Given the description of an element on the screen output the (x, y) to click on. 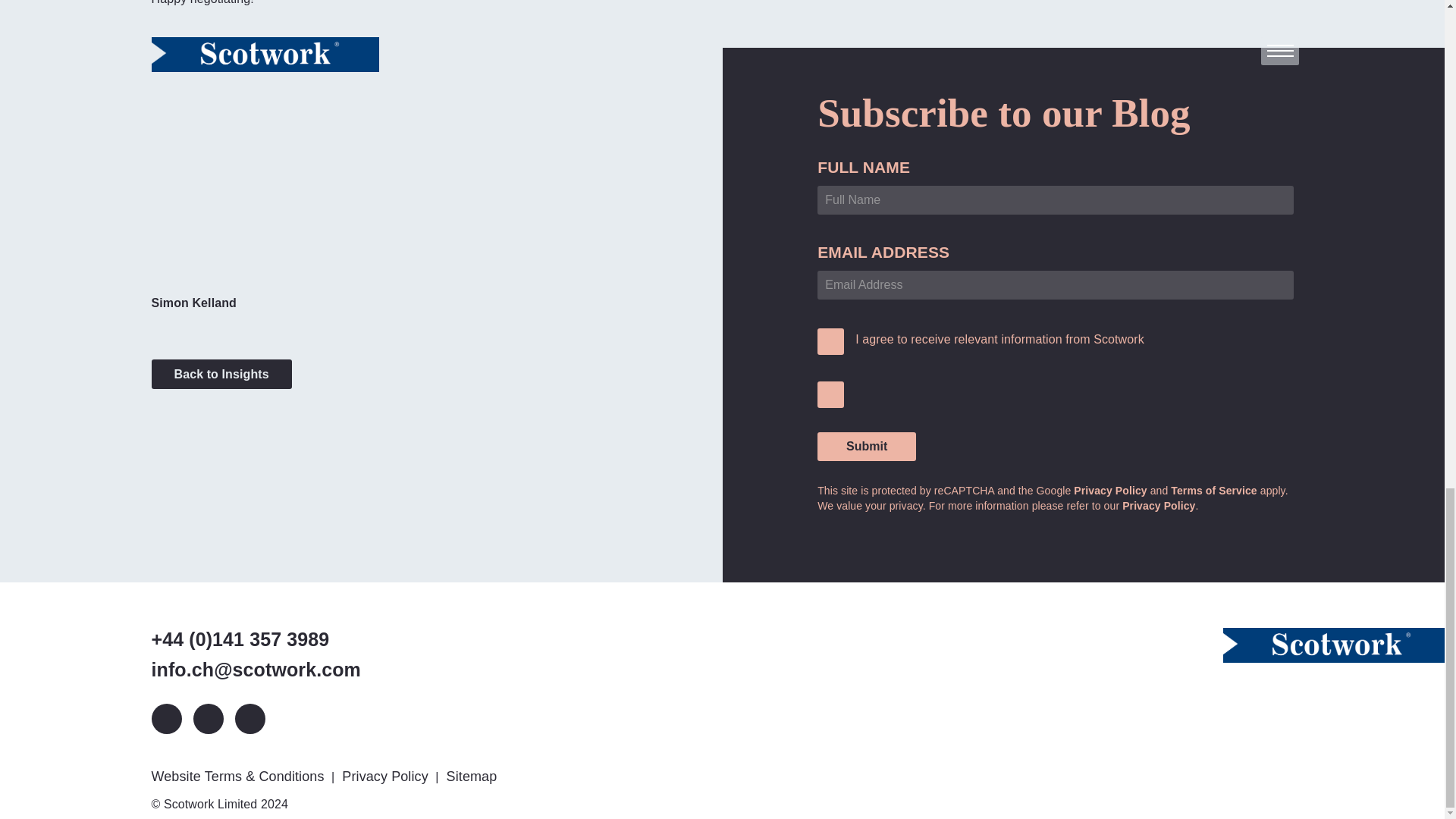
Privacy Policy (1158, 505)
Sitemap (473, 775)
Privacy Policy (386, 775)
Scotwork privacy policy (1158, 505)
Back to Insights (221, 374)
Privacy Policy (1110, 490)
linkedin (166, 718)
Terms of Service (1213, 490)
Google Privacy Policy (1110, 490)
Submit (865, 446)
facebook (249, 718)
Google Terms (1213, 490)
twitter (207, 718)
Privacy Policy (386, 775)
